Given the description of an element on the screen output the (x, y) to click on. 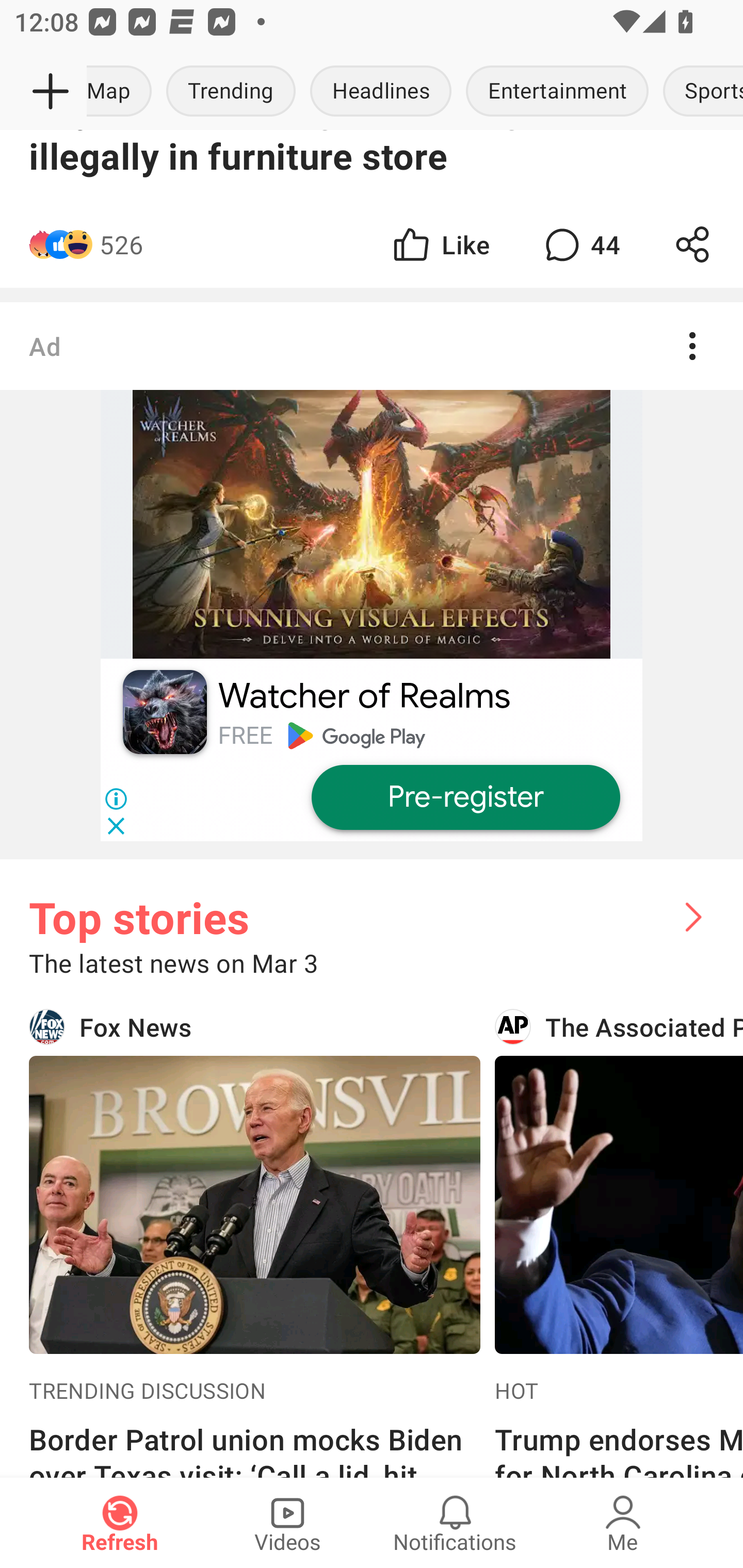
Crime Map (122, 91)
Trending (231, 91)
Headlines (380, 91)
Entertainment (557, 91)
Sports (699, 91)
526 (121, 244)
Like (439, 244)
44 (579, 244)
Watcher of Realms (364, 695)
FREE (245, 735)
Pre-register (464, 797)
Top stories (371, 902)
Videos (287, 1522)
Notifications (455, 1522)
Me (622, 1522)
